Given the description of an element on the screen output the (x, y) to click on. 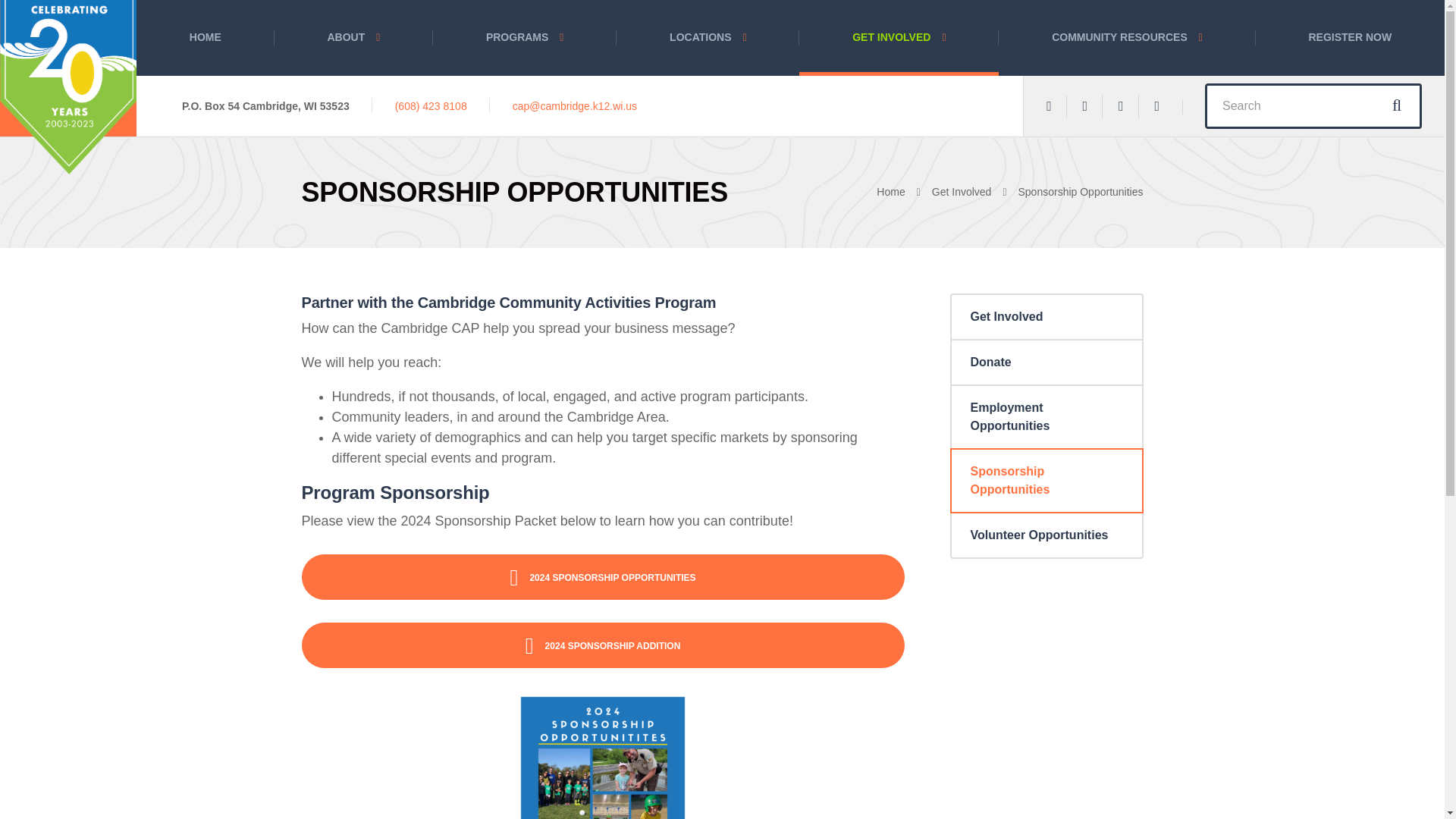
PROGRAMS (523, 38)
Go to Get Involved. (974, 191)
Go Home. (903, 191)
HOME (205, 38)
ABOUT (354, 38)
